Given the description of an element on the screen output the (x, y) to click on. 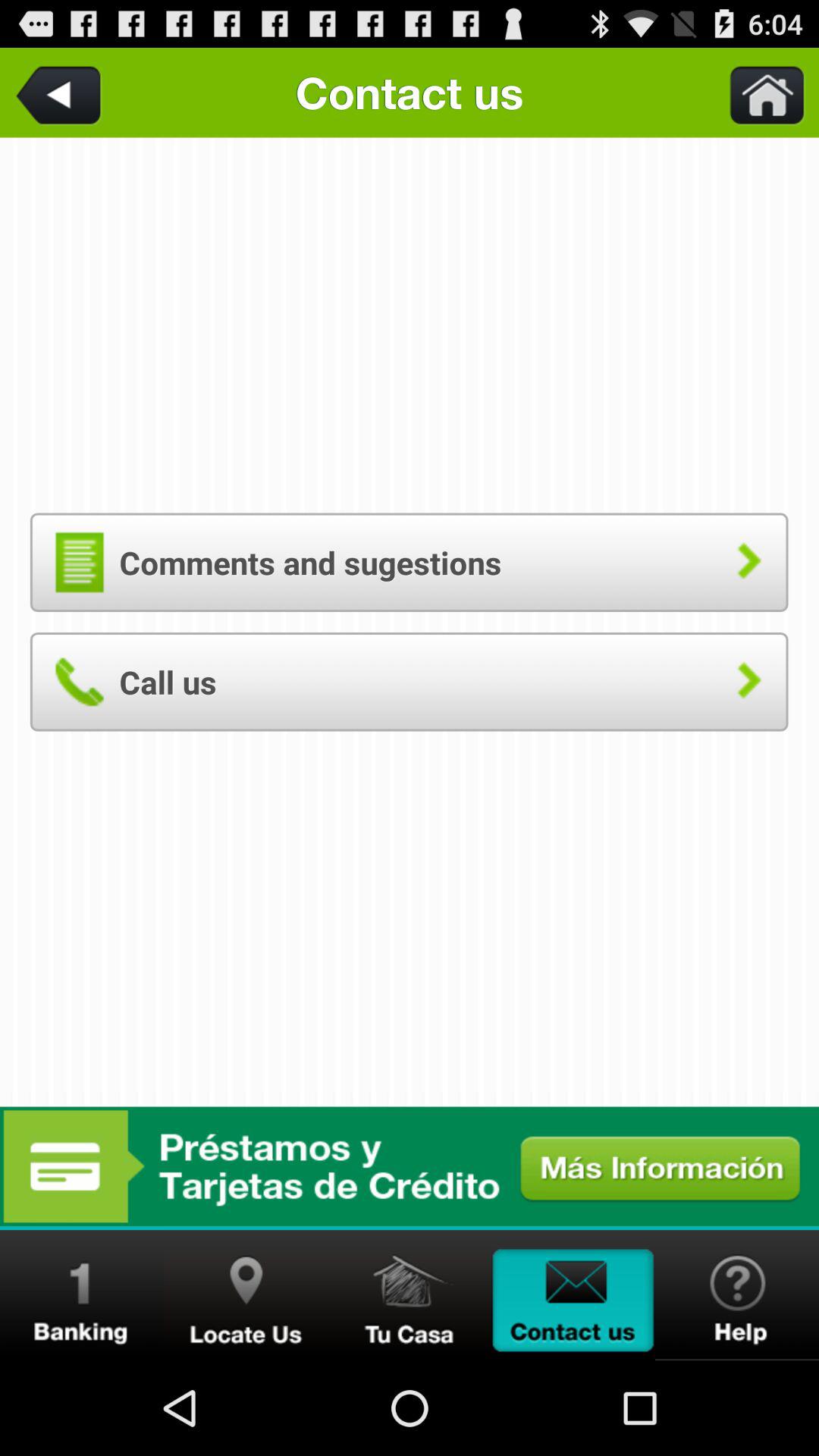
launch the icon at the top right corner (757, 92)
